Given the description of an element on the screen output the (x, y) to click on. 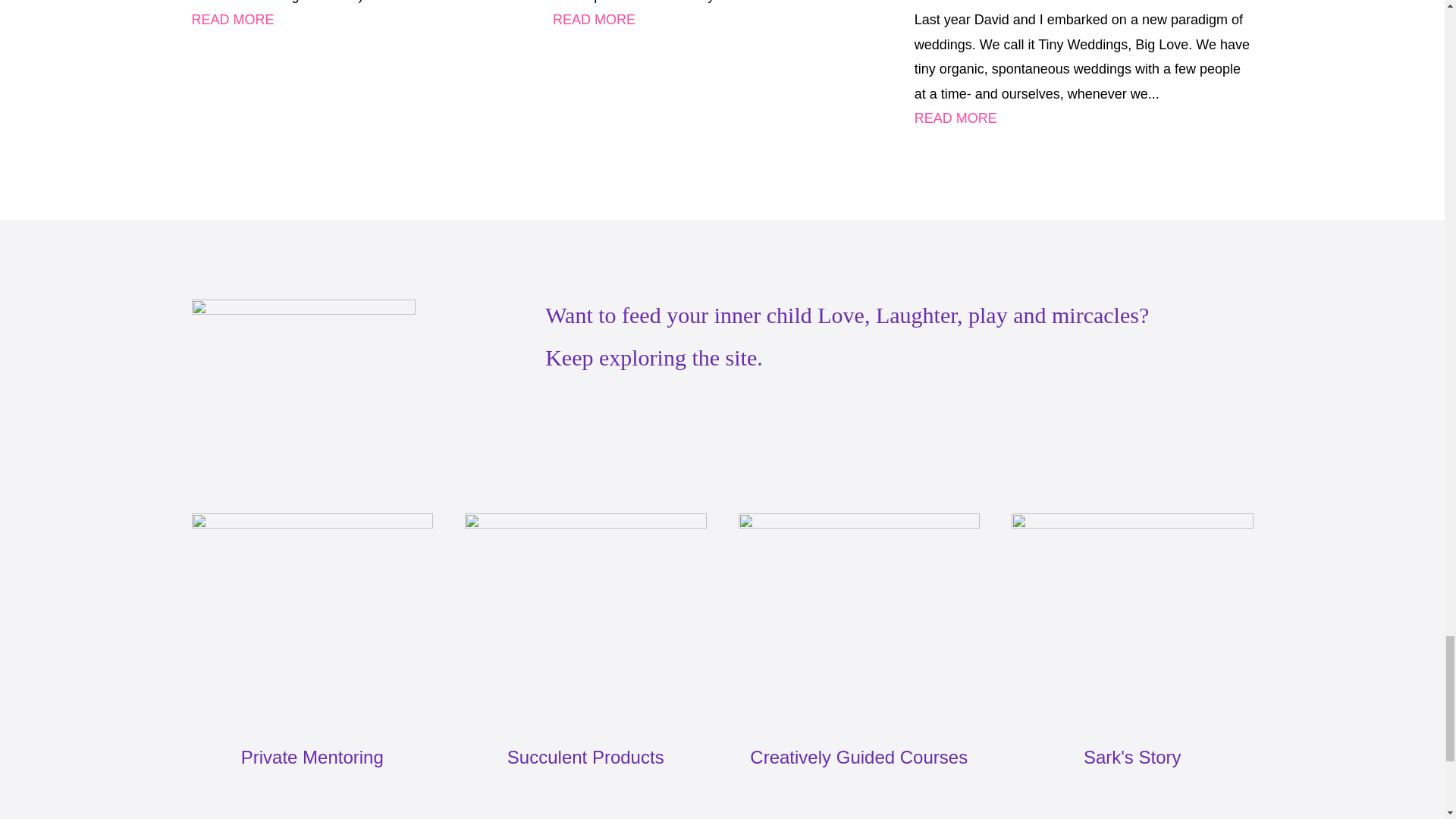
succulent life (302, 391)
Private Mentoring with Sark (311, 619)
Creatively Guided Courses (858, 618)
Succulent Products (585, 619)
Sarks Story (1132, 619)
